Given the description of an element on the screen output the (x, y) to click on. 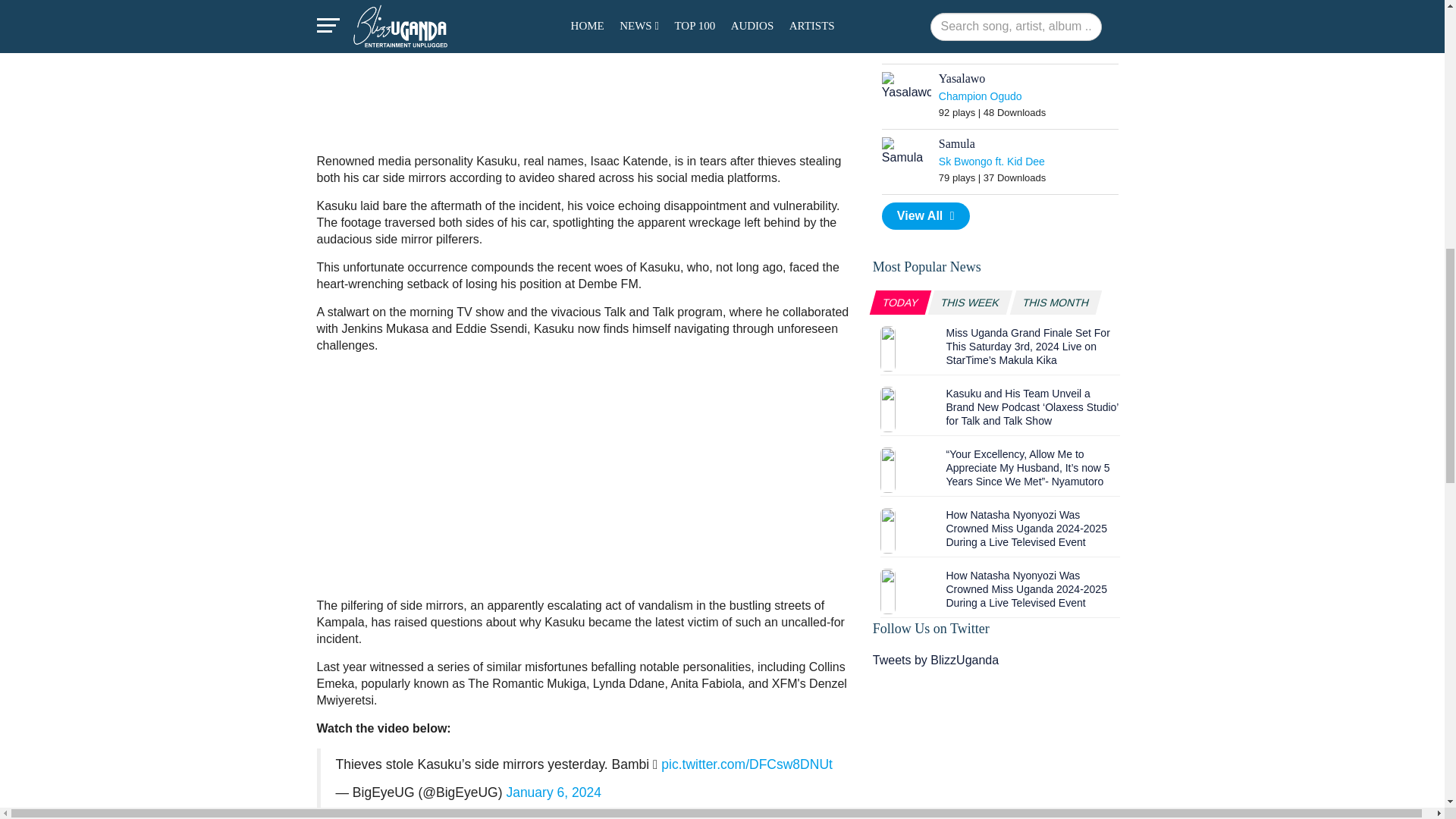
Focus (906, 15)
Yasalawo (906, 86)
Samula (906, 151)
